Given the description of an element on the screen output the (x, y) to click on. 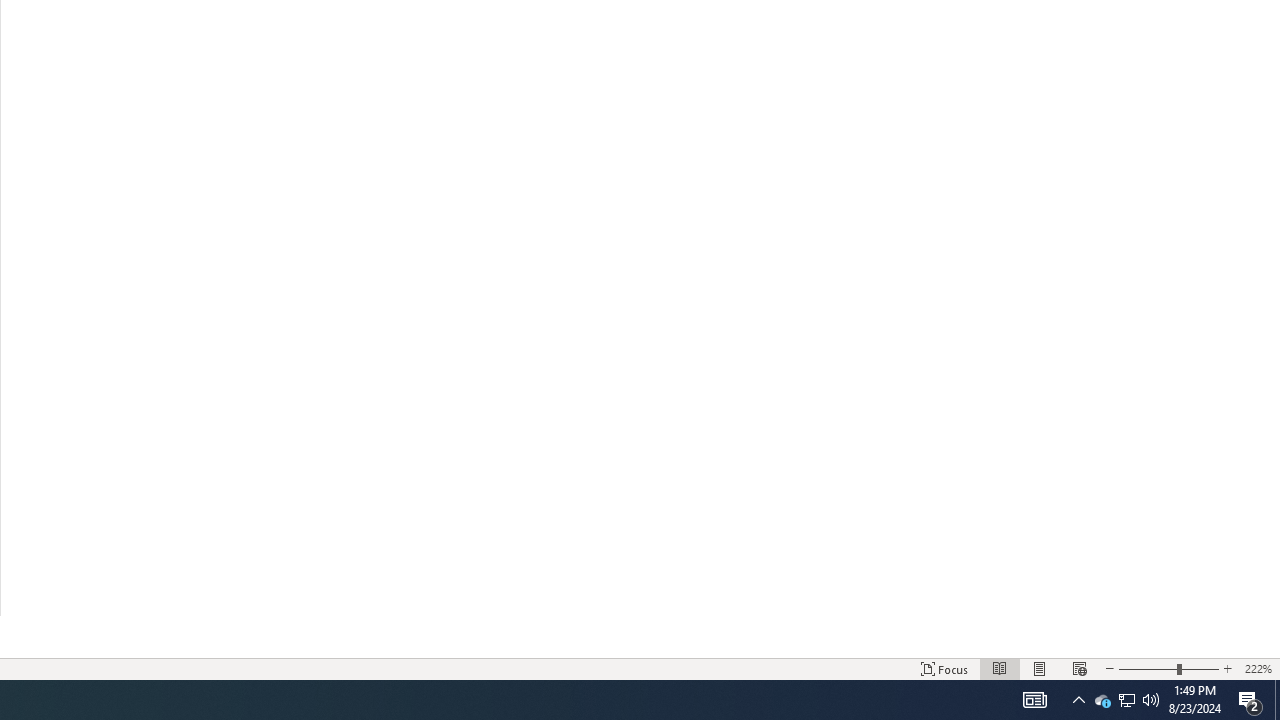
Read Mode (1000, 668)
Focus  (944, 668)
Zoom Out (1147, 668)
Decrease Text Size (1109, 668)
Text Size (1168, 668)
Increase Text Size (1227, 668)
Zoom In (1199, 668)
Web Layout (1079, 668)
Print Layout (1039, 668)
